Given the description of an element on the screen output the (x, y) to click on. 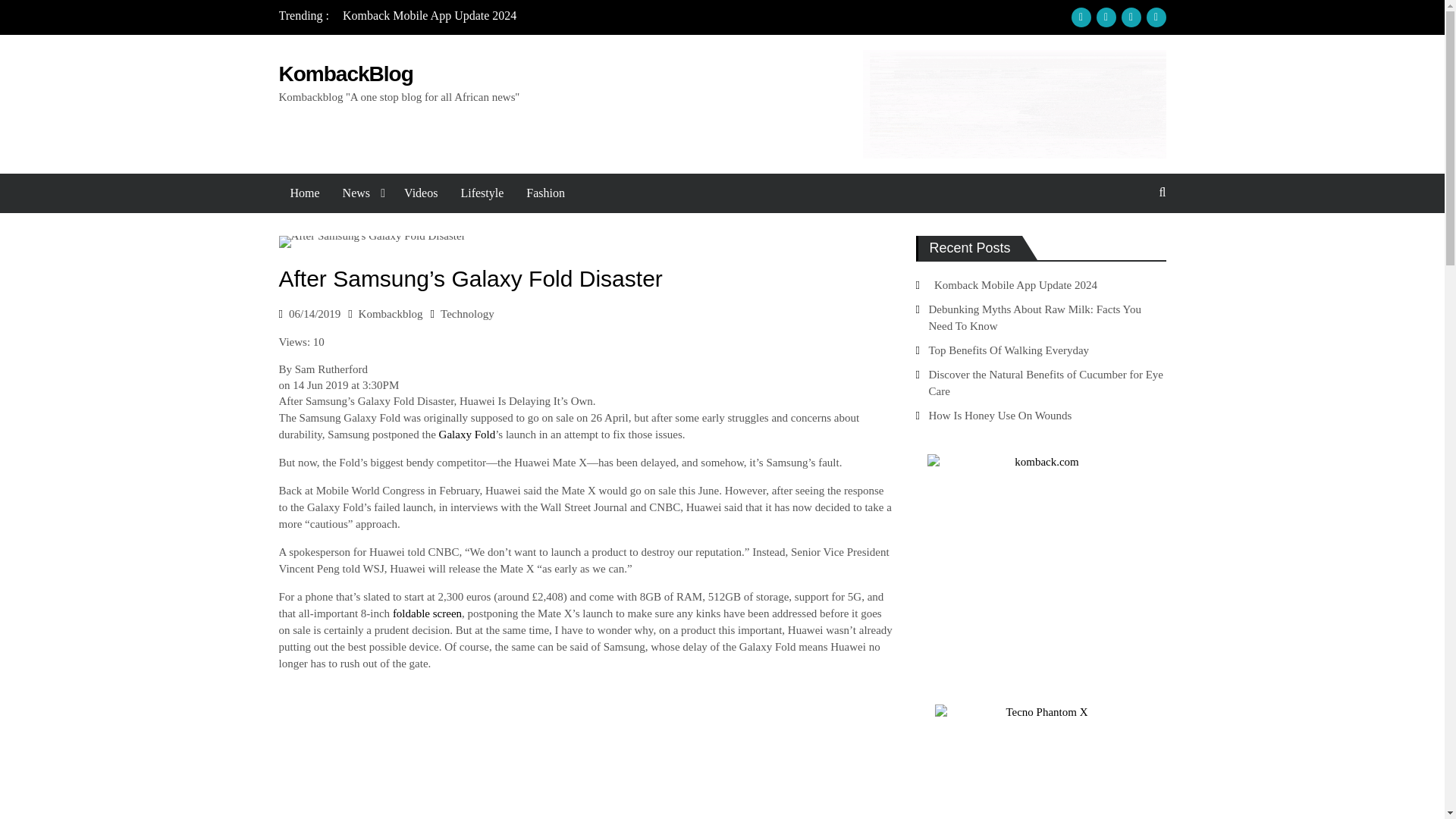
Home (305, 192)
Videos (420, 192)
Technology (468, 313)
Instagram (1106, 17)
twitter (1130, 17)
Facebook (1080, 17)
foldable screen (425, 613)
News (362, 192)
  Komback Mobile App Update 2024 (426, 15)
KombackBlog (346, 73)
